Given the description of an element on the screen output the (x, y) to click on. 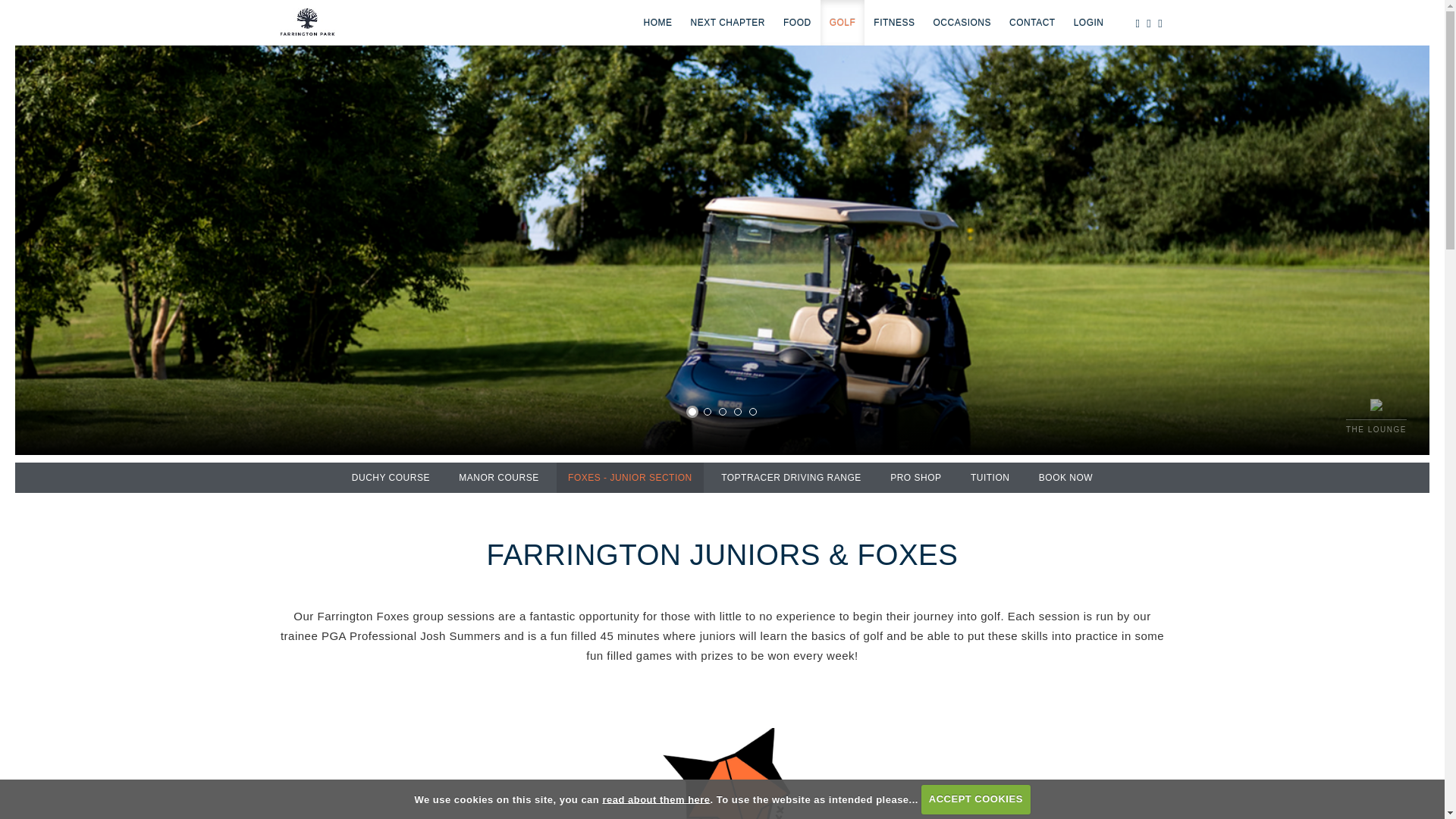
3 (722, 411)
LOGIN (1088, 22)
FOXES - JUNIOR SECTION (629, 477)
2 (707, 411)
MANOR COURSE (498, 477)
read about our cookies (656, 798)
OCCASIONS (962, 22)
NEXT CHAPTER (727, 22)
1 (691, 411)
CONTACT (1032, 22)
5 (753, 411)
DUCHY COURSE (390, 477)
FITNESS (893, 22)
HOME (657, 22)
FOOD (797, 22)
